Given the description of an element on the screen output the (x, y) to click on. 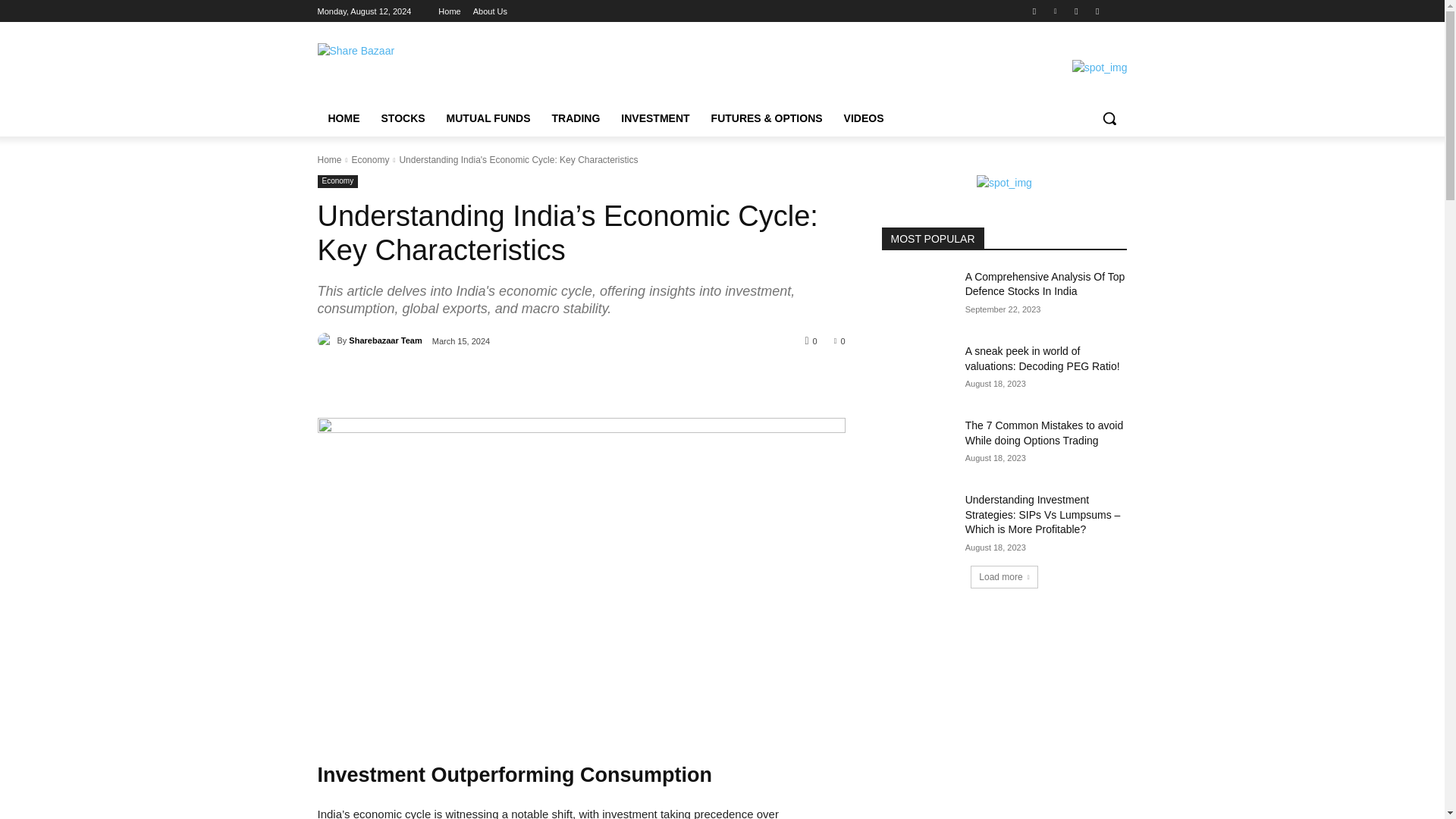
Instagram (1034, 11)
Youtube (1097, 11)
Google News (1117, 11)
Telegram (1075, 11)
Sharebazaar Team (326, 340)
STOCKS (402, 117)
About Us (489, 11)
View all posts in Economy (369, 159)
0 (839, 339)
Home (328, 159)
